Given the description of an element on the screen output the (x, y) to click on. 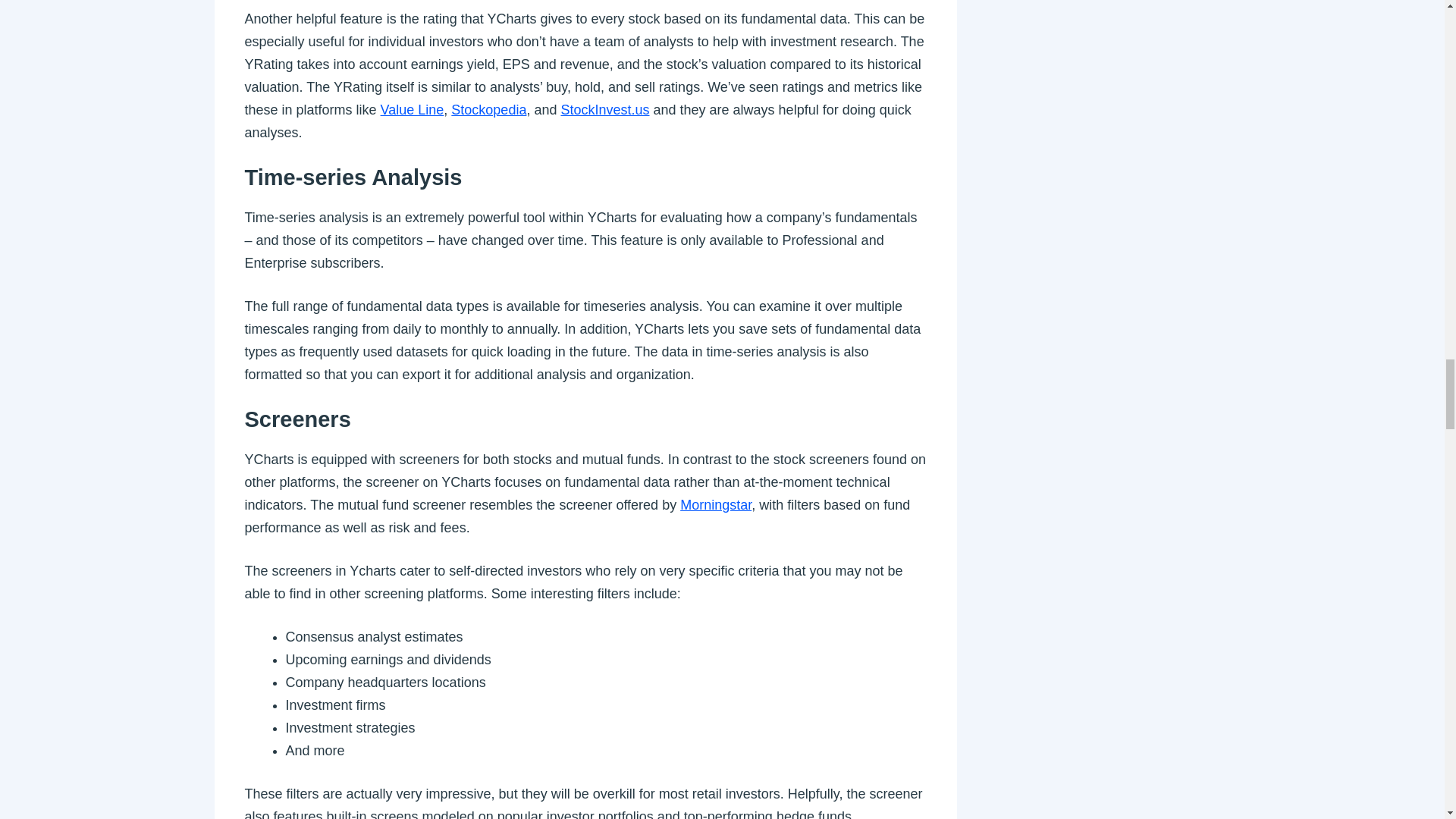
Stockopedia (488, 109)
Value Line (412, 109)
Morningstar (715, 504)
StockInvest.us (604, 109)
